Given the description of an element on the screen output the (x, y) to click on. 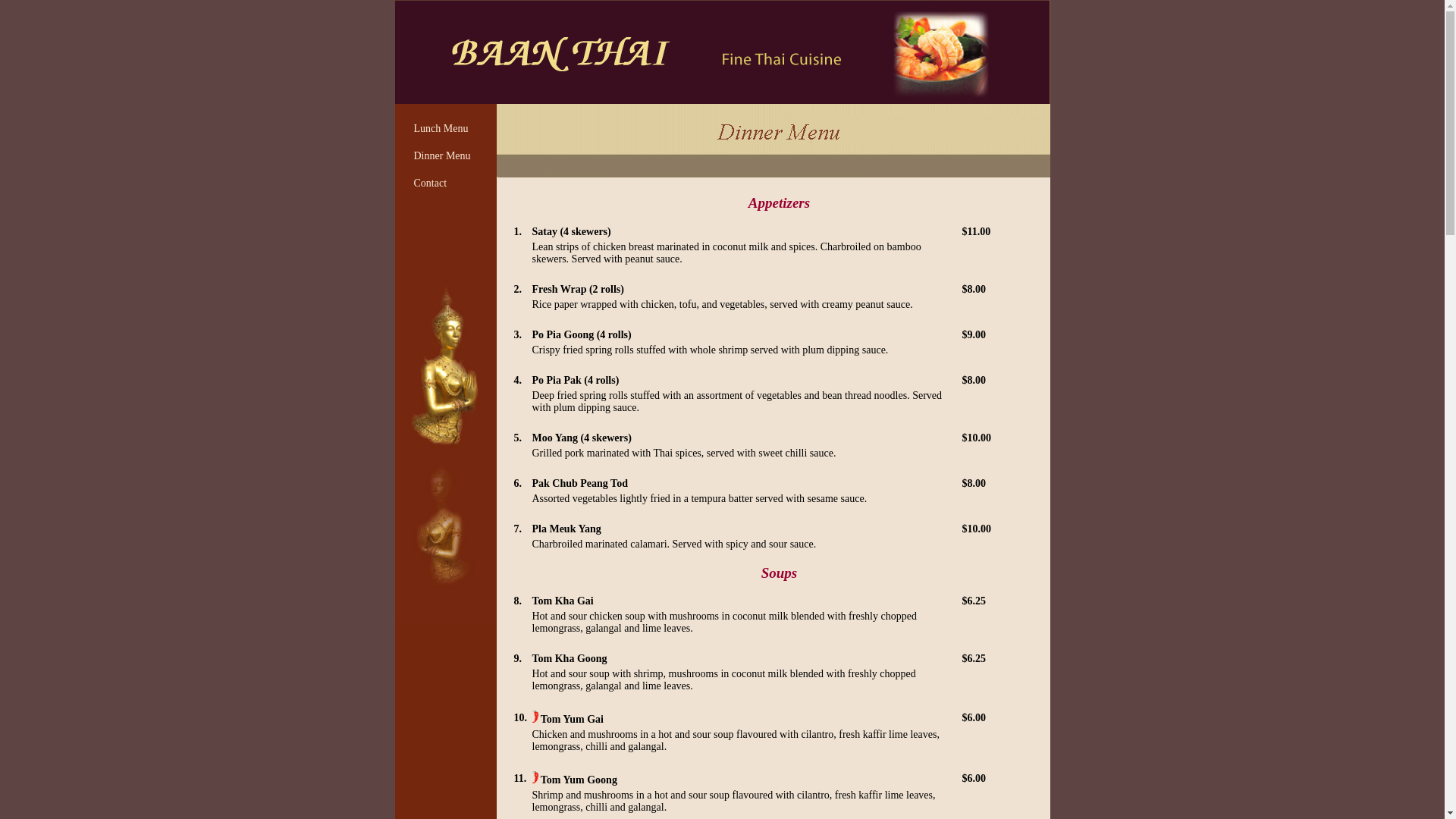
Contact Element type: text (430, 182)
Dinner Menu Element type: text (442, 155)
Lunch Menu Element type: text (441, 128)
